Given the description of an element on the screen output the (x, y) to click on. 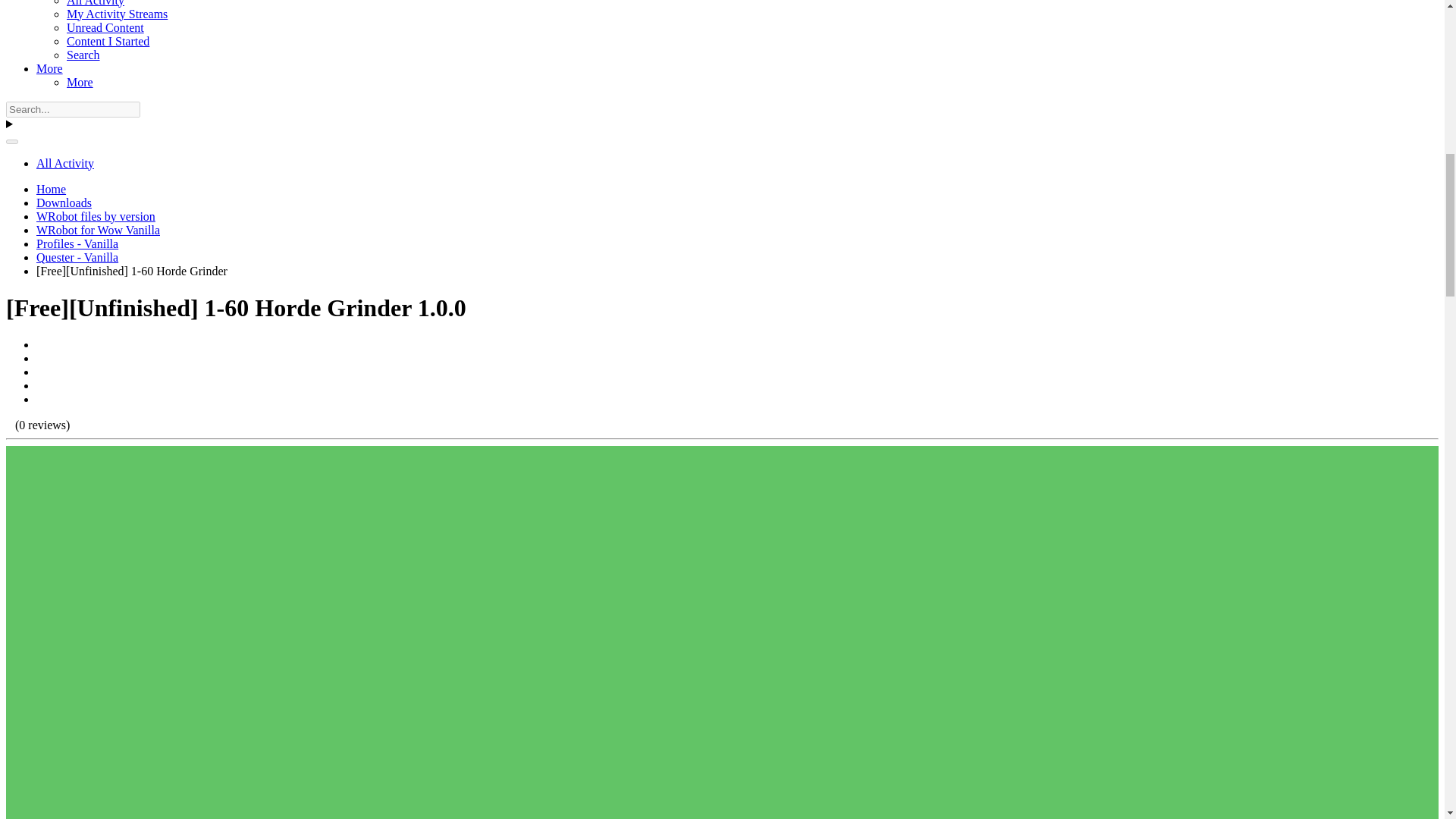
My Activity Streams (116, 13)
Home (50, 188)
All Activity (94, 3)
